Given the description of an element on the screen output the (x, y) to click on. 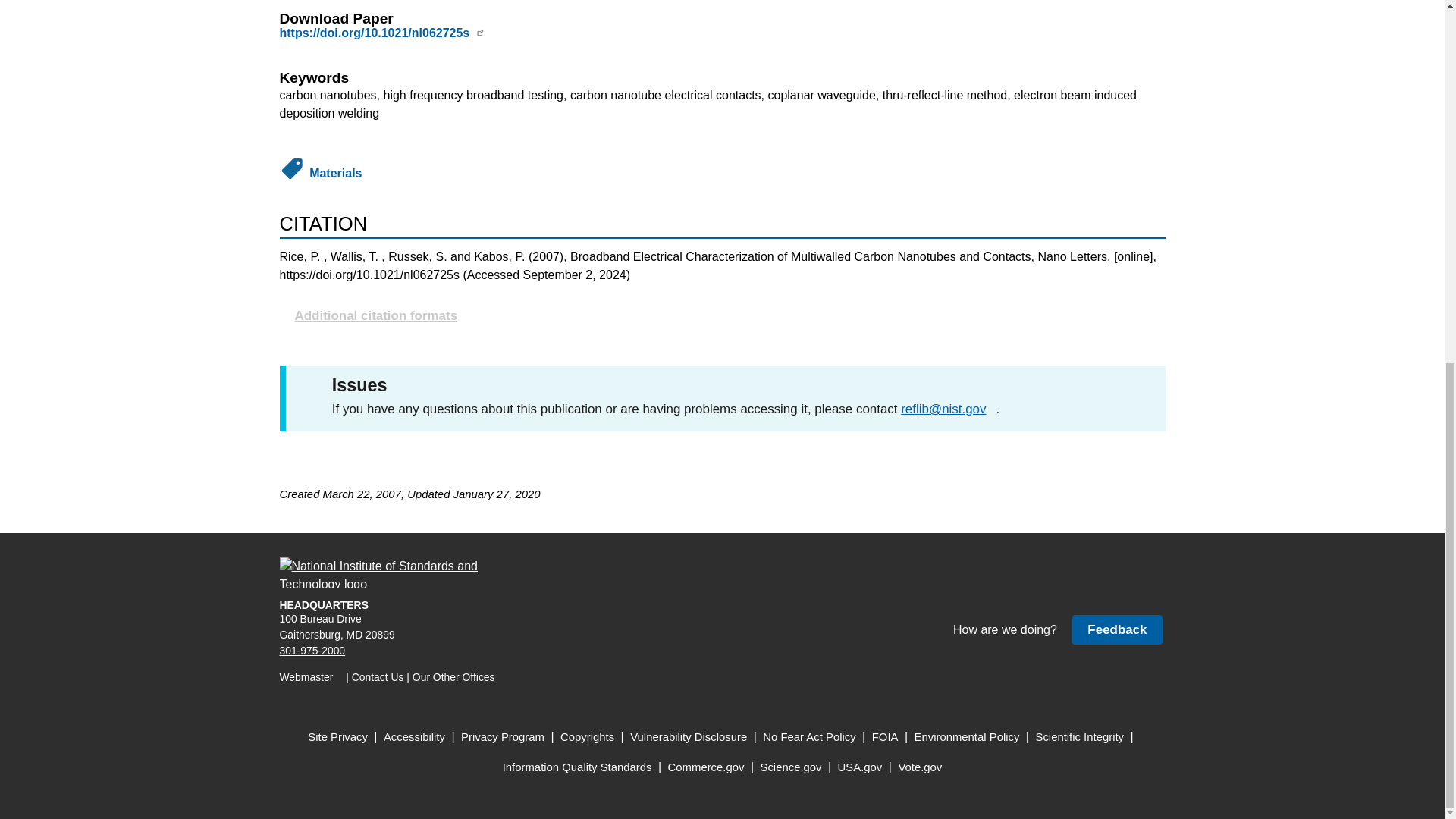
Vulnerability Disclosure (688, 736)
National Institute of Standards and Technology (387, 572)
Webmaster (310, 676)
Materials (334, 173)
Environmental Policy (967, 736)
301-975-2000 (312, 650)
Our Other Offices (453, 676)
Feedback (1116, 629)
Copyrights (587, 736)
Additional citation formats (721, 315)
